Given the description of an element on the screen output the (x, y) to click on. 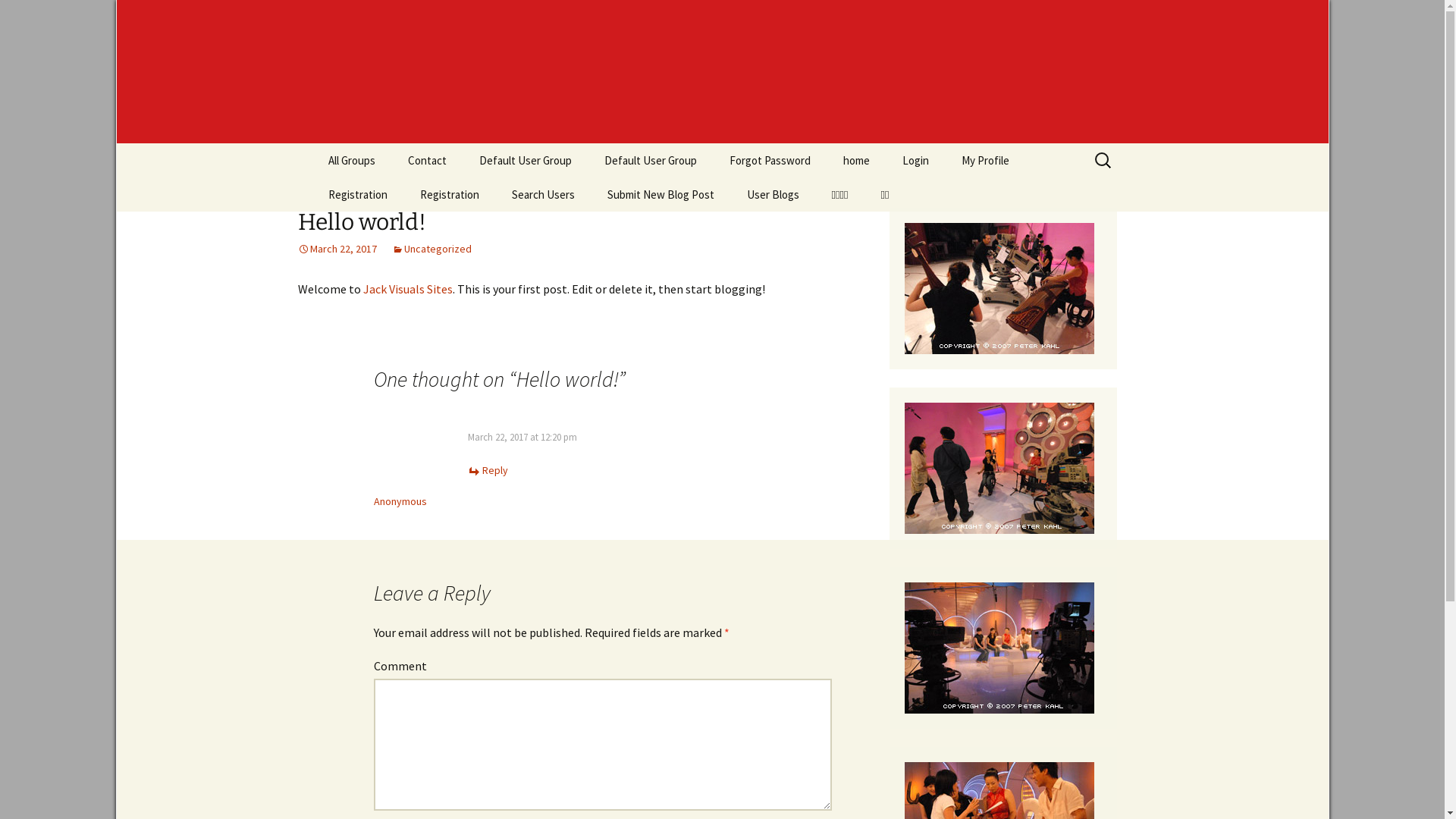
Contact Element type: text (426, 160)
Login Element type: text (915, 160)
March 22, 2017 Element type: text (336, 248)
Registration Element type: text (356, 194)
My Profile Element type: text (985, 160)
All Groups Element type: text (350, 160)
Uncategorized Element type: text (430, 248)
Forgot Password Element type: text (769, 160)
User Blogs Element type: text (772, 194)
Search Element type: text (18, 16)
Skip to content Element type: text (312, 142)
3 Girls Band
Just another Jack Visuals Sites site Element type: text (721, 71)
Registration Element type: text (449, 194)
March 22, 2017 at 12:20 pm Element type: text (521, 436)
Search Users Element type: text (542, 194)
Jack Visuals Sites Element type: text (406, 288)
home Element type: text (856, 160)
Default User Group Element type: text (525, 160)
Default User Group Element type: text (649, 160)
Reply Element type: text (487, 469)
Submit New Blog Post Element type: text (659, 194)
